Given the description of an element on the screen output the (x, y) to click on. 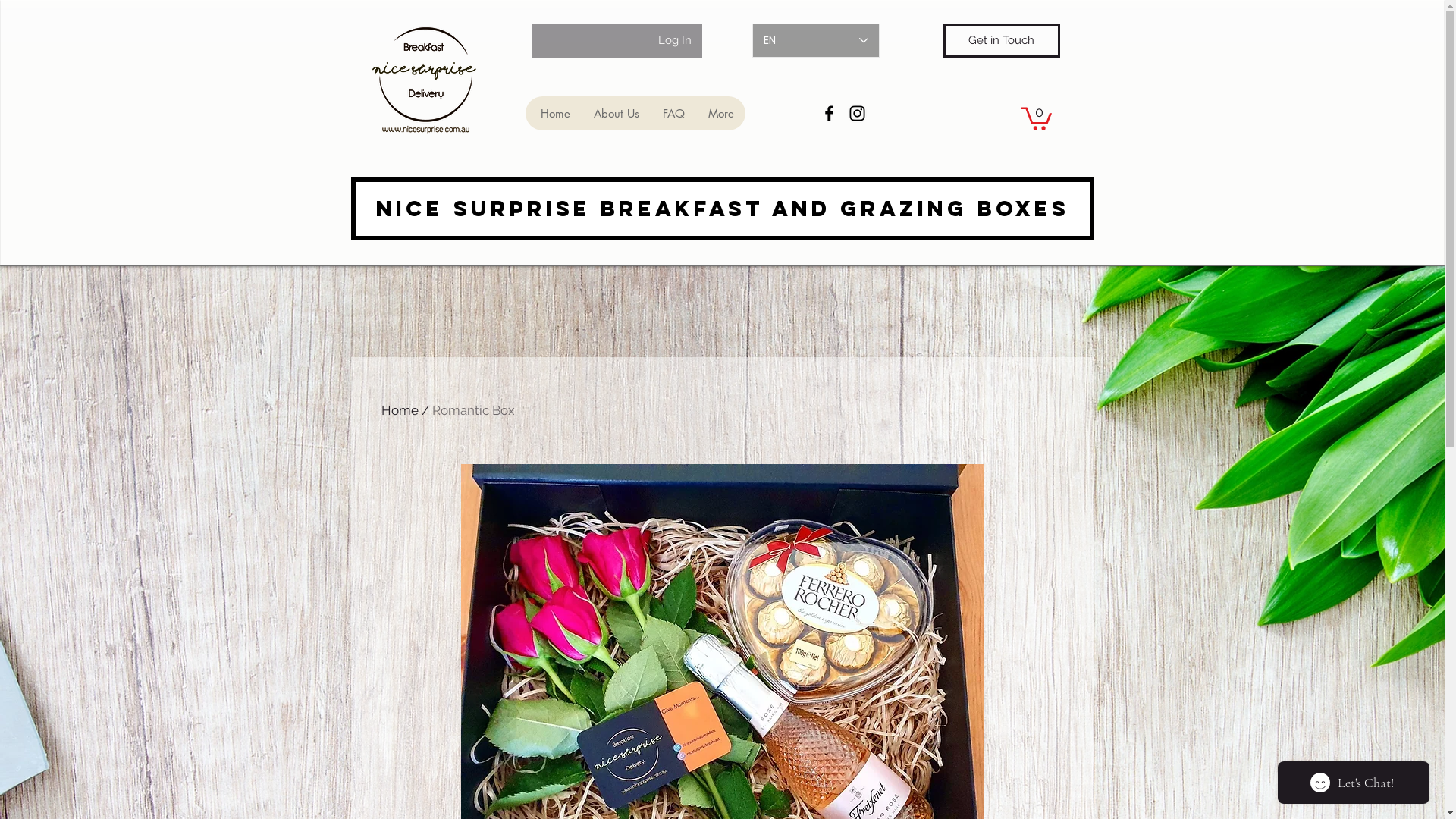
0 Element type: text (1035, 117)
Home Element type: text (553, 113)
Nice Surprise Breakfast and Grazing Boxes Element type: text (721, 208)
Home Element type: text (398, 409)
Get in Touch Element type: text (1001, 40)
Log In Element type: text (674, 40)
Romantic Box Element type: text (473, 409)
FAQ Element type: text (673, 113)
About Us Element type: text (614, 113)
